Given the description of an element on the screen output the (x, y) to click on. 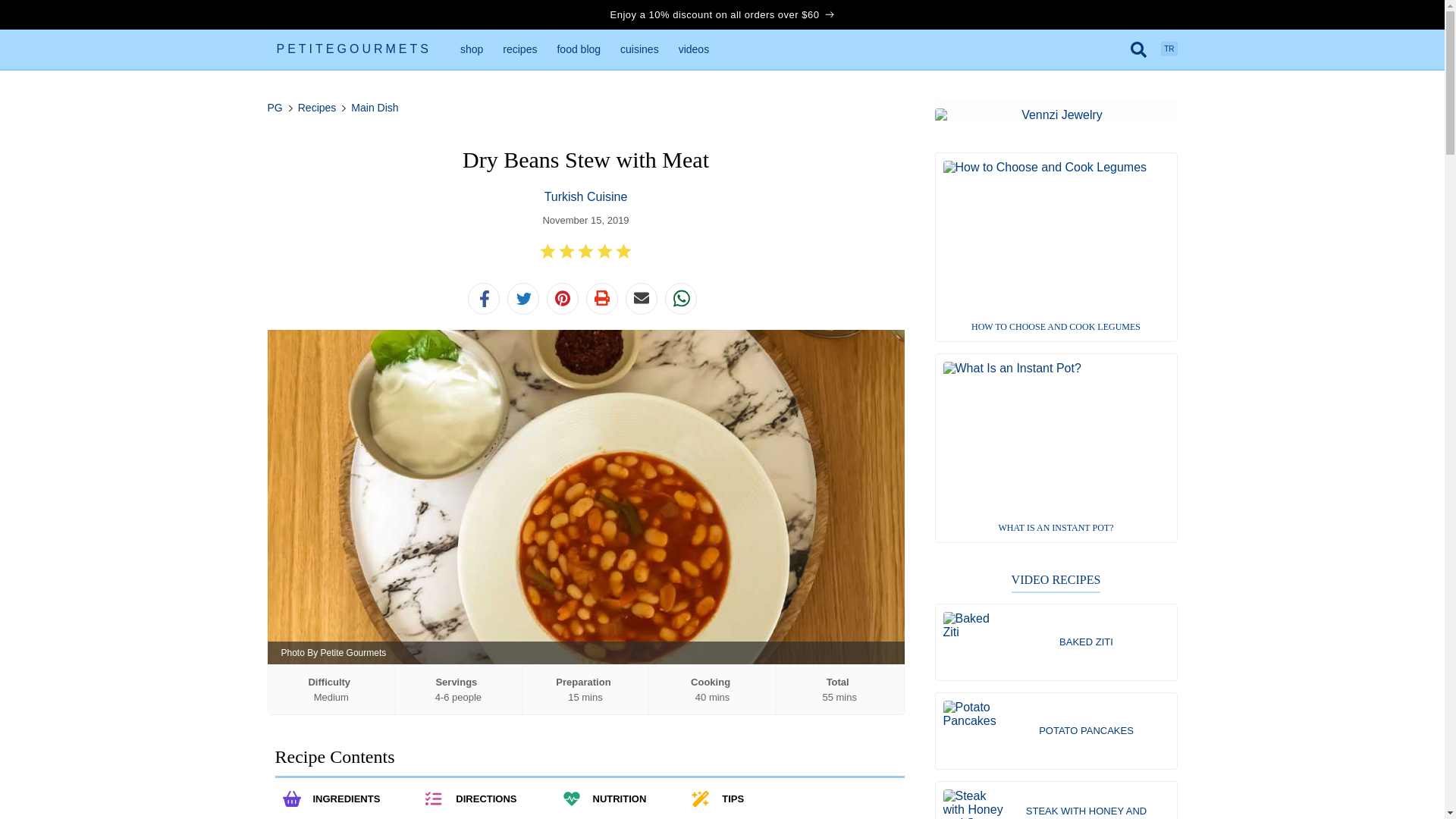
PETITEGOURMETS (353, 53)
Recipes (317, 107)
videos (693, 48)
TR (1168, 48)
PG (274, 107)
INGREDIENTS (346, 798)
shop (471, 48)
TIPS (732, 798)
recipes (519, 48)
Main Dish (373, 107)
food blog (577, 48)
NUTRITION (619, 798)
cuisines (639, 48)
Turkish Cuisine (585, 196)
DIRECTIONS (486, 798)
